Given the description of an element on the screen output the (x, y) to click on. 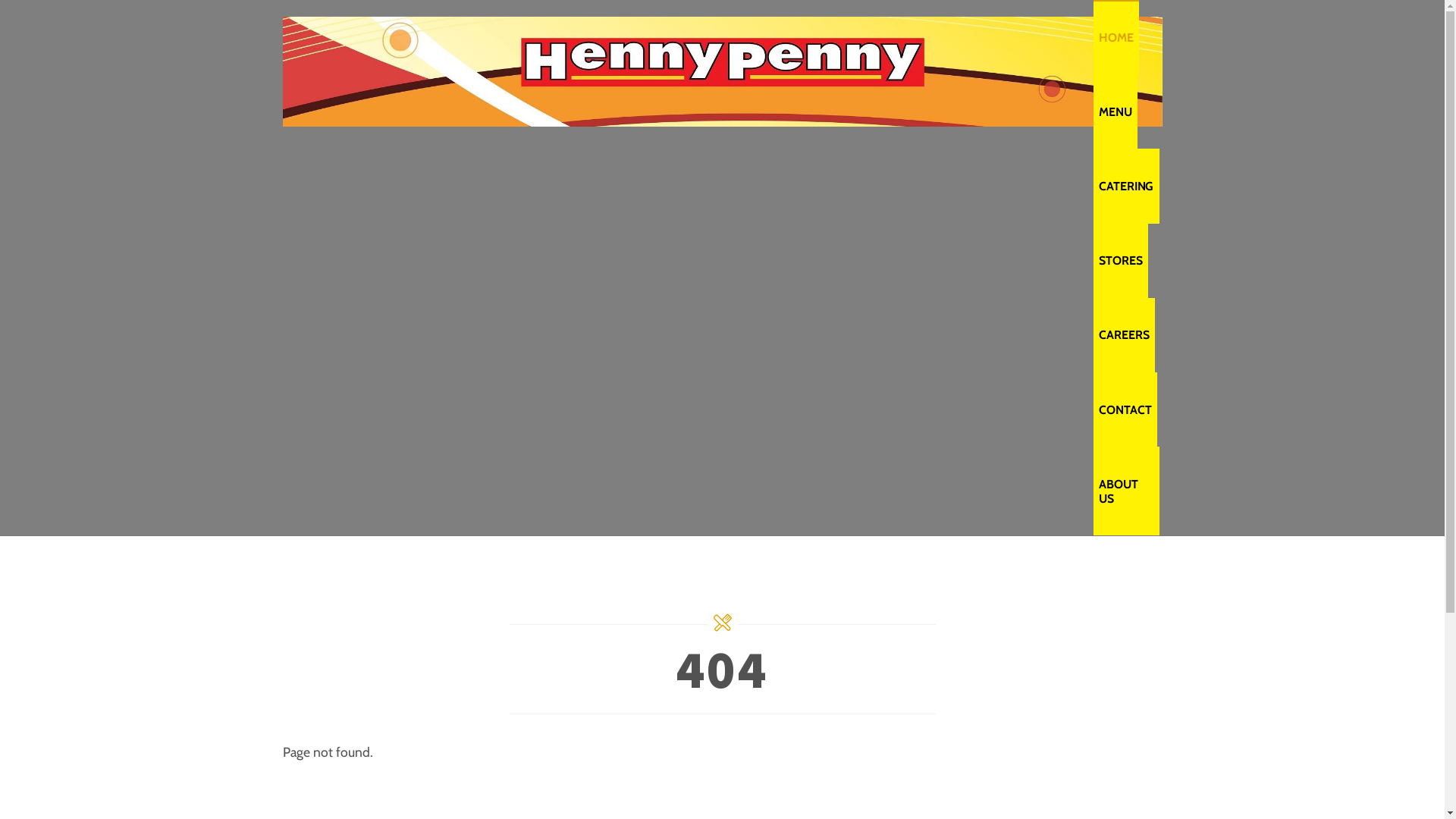
STORES Element type: text (1120, 260)
Henny Penny Element type: hover (721, 114)
CATERING Element type: text (1126, 185)
HOME Element type: text (1116, 37)
ABOUT US Element type: text (1126, 490)
CONTACT Element type: text (1125, 409)
MENU Element type: text (1115, 111)
CAREERS Element type: text (1123, 335)
henny_penny_logo Element type: hover (721, 71)
